Given the description of an element on the screen output the (x, y) to click on. 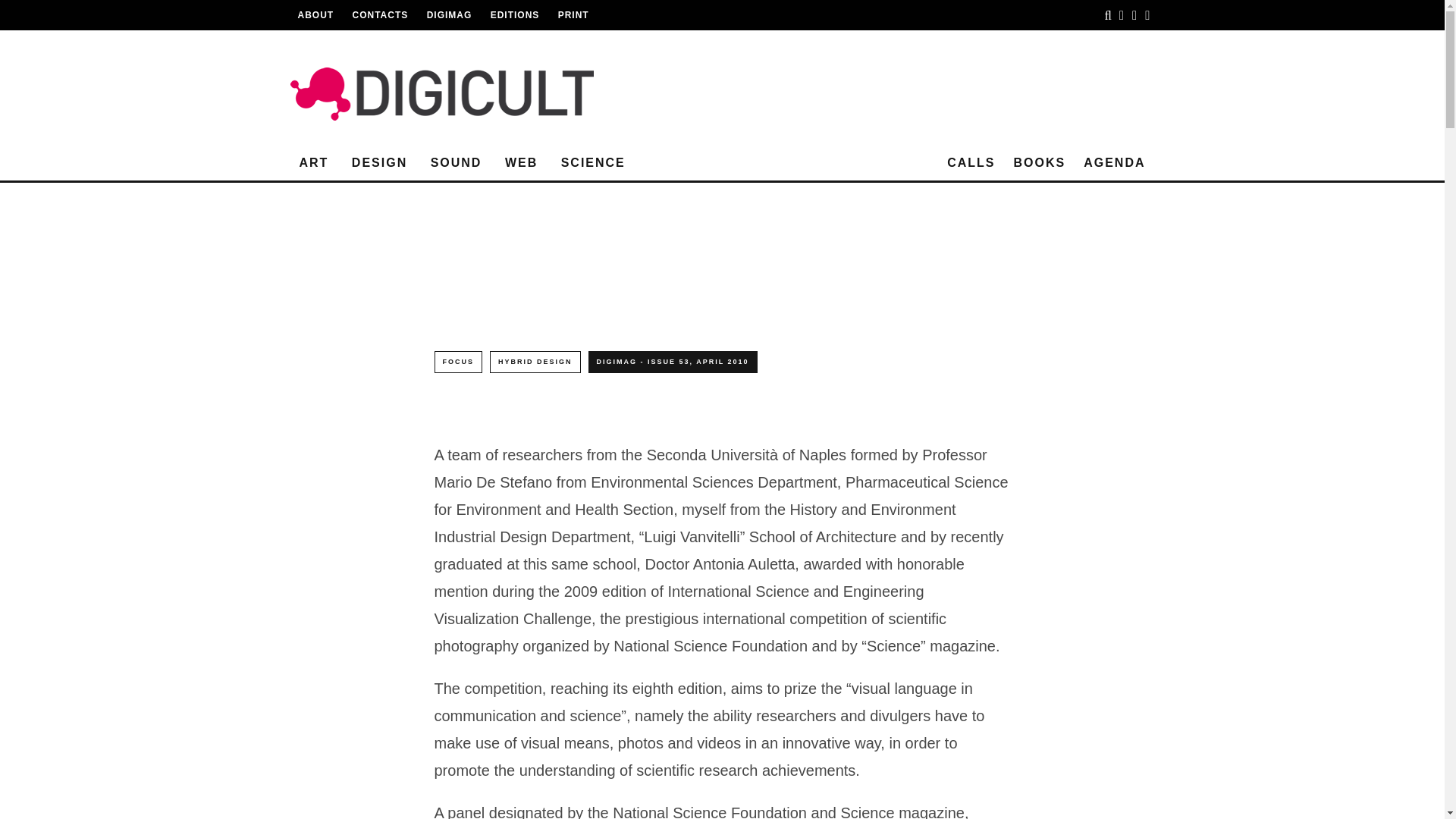
PRINT (573, 15)
View all posts in Design (774, 234)
View all posts in Digimag - Issue 53, April 2010 (958, 234)
DIGIMAG (448, 15)
CONTACTS (380, 15)
Log In (721, 409)
View all posts in Articles (686, 234)
EDITIONS (515, 15)
ABOUT (315, 15)
